Given the description of an element on the screen output the (x, y) to click on. 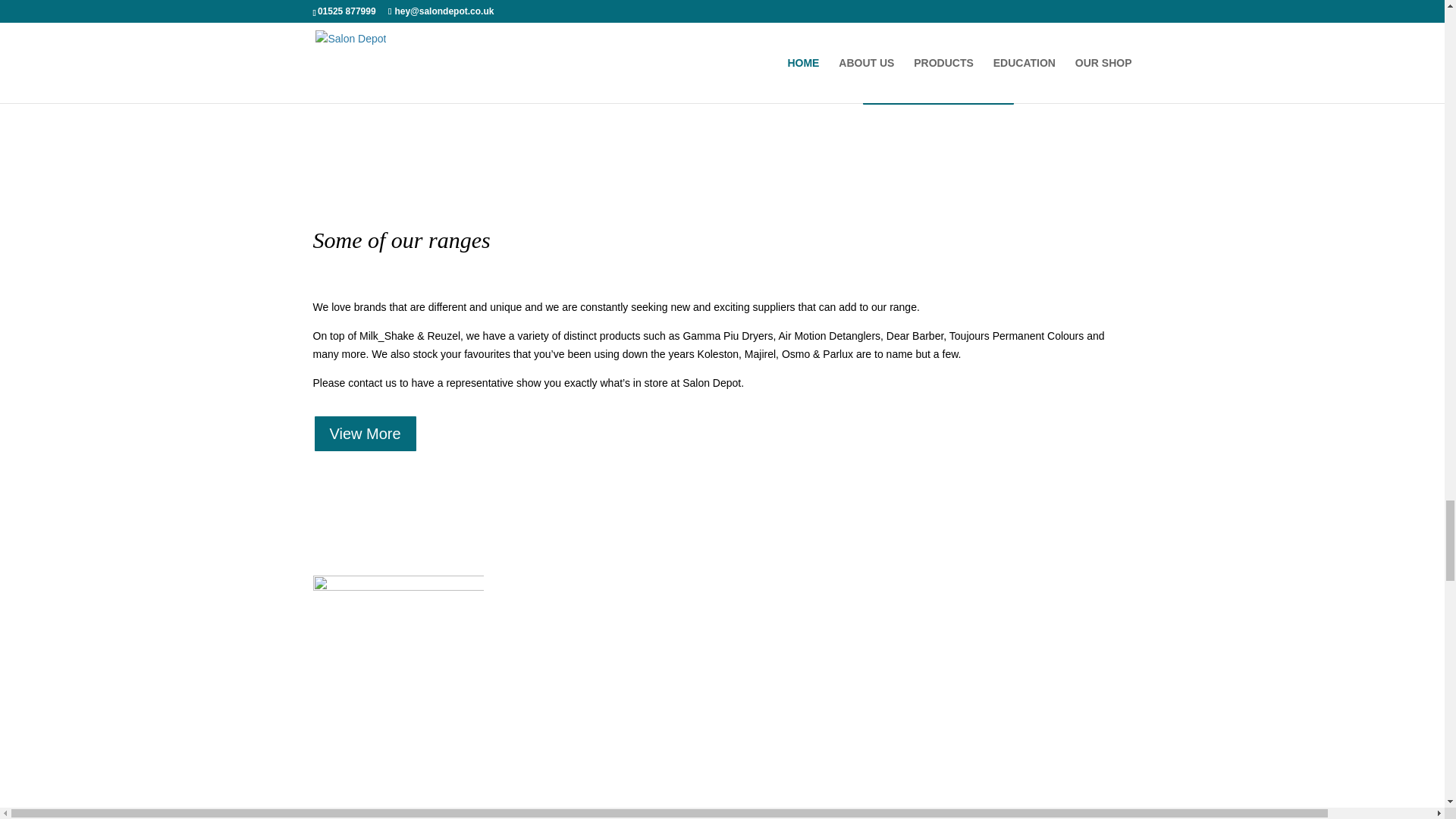
View More (364, 433)
FIND OUT MORE (938, 86)
